Given the description of an element on the screen output the (x, y) to click on. 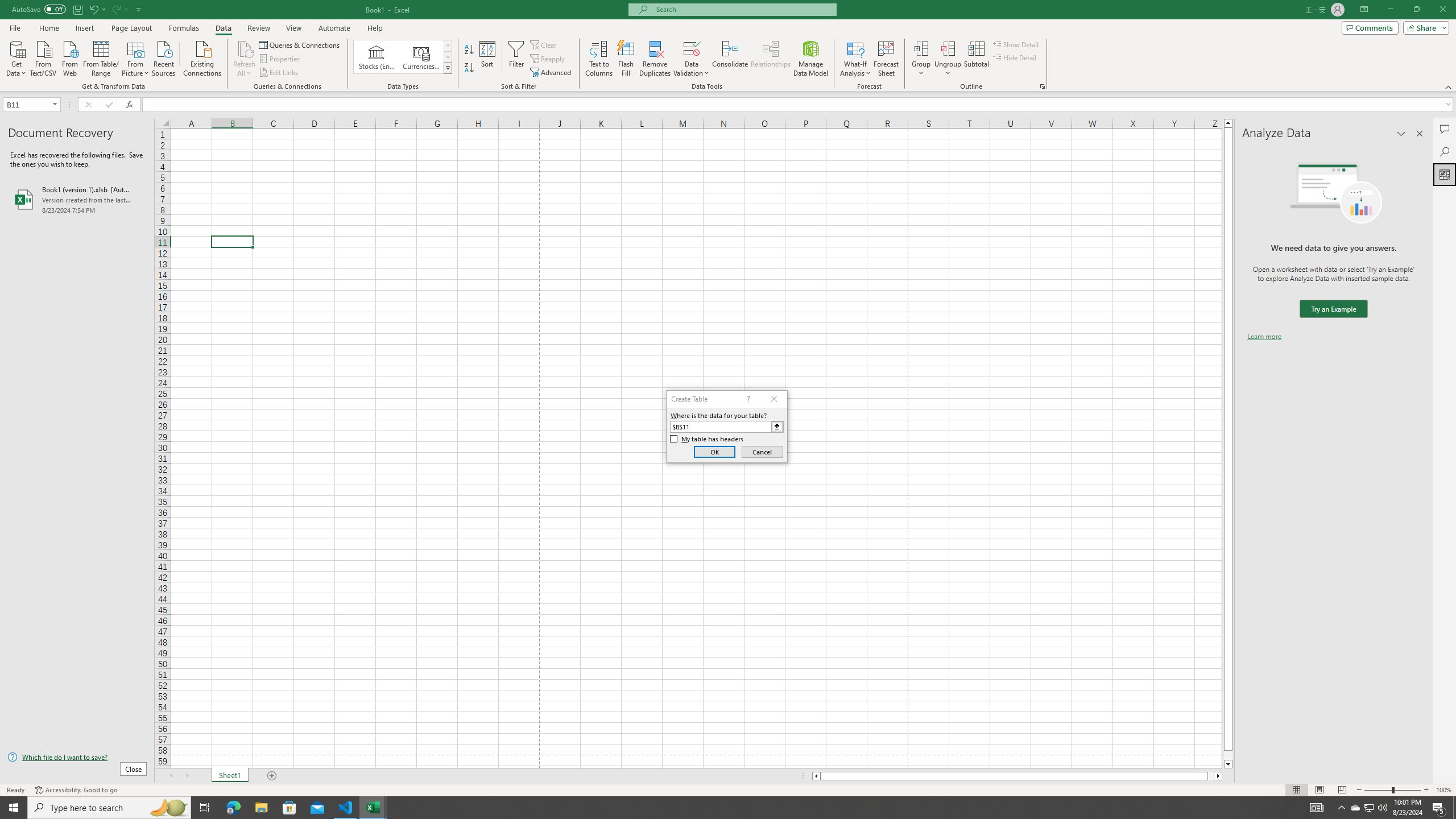
Properties (280, 58)
From Table/Range (100, 57)
Queries & Connections (300, 44)
Book1 (version 1).xlsb  [AutoRecovered] (77, 199)
Sort... (487, 58)
Text to Columns... (598, 58)
Currencies (English) (420, 56)
Show Detail (1016, 44)
Stocks (English) (375, 56)
Search (1444, 151)
